Given the description of an element on the screen output the (x, y) to click on. 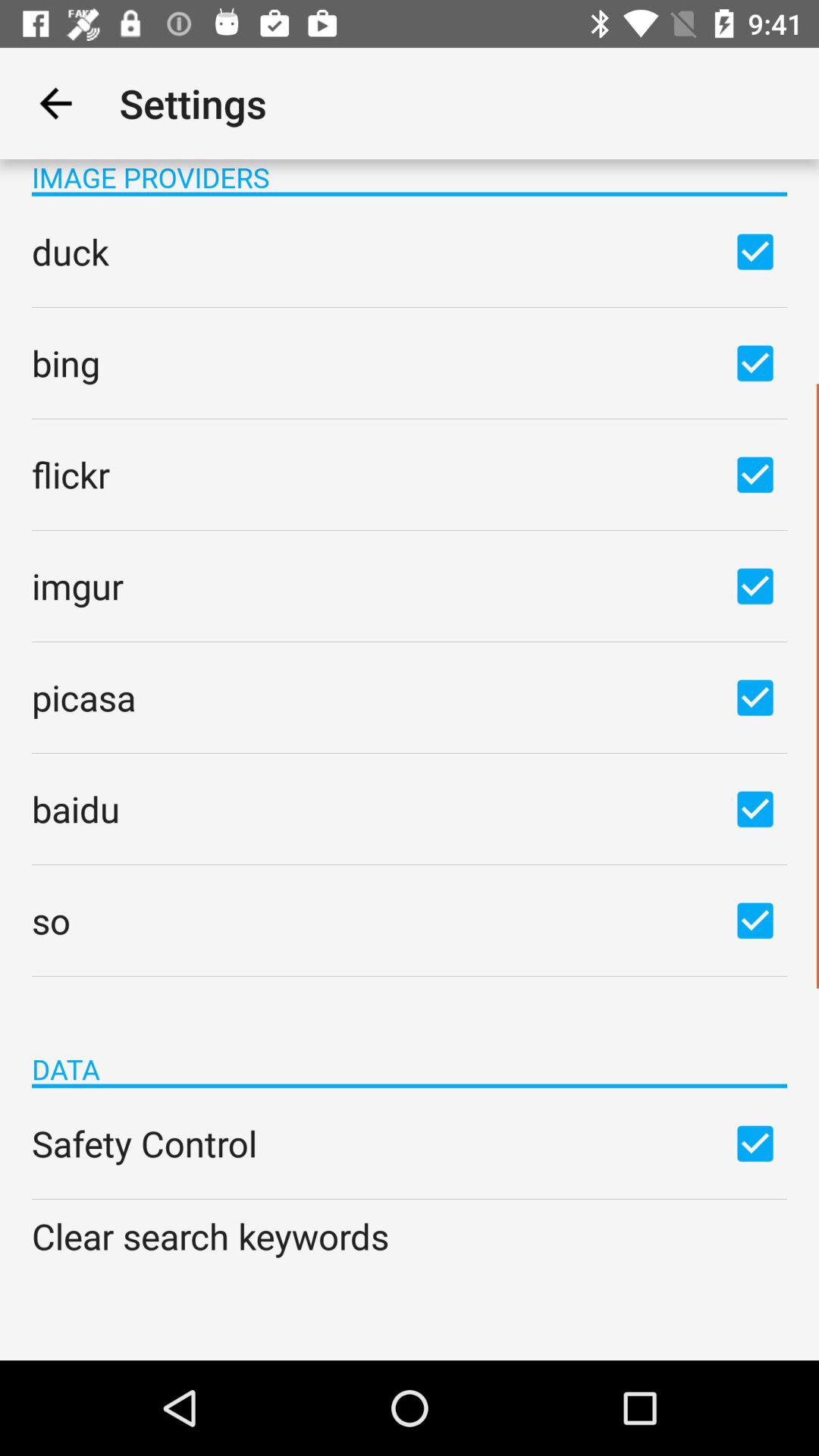
toggle safety control option (755, 1143)
